Given the description of an element on the screen output the (x, y) to click on. 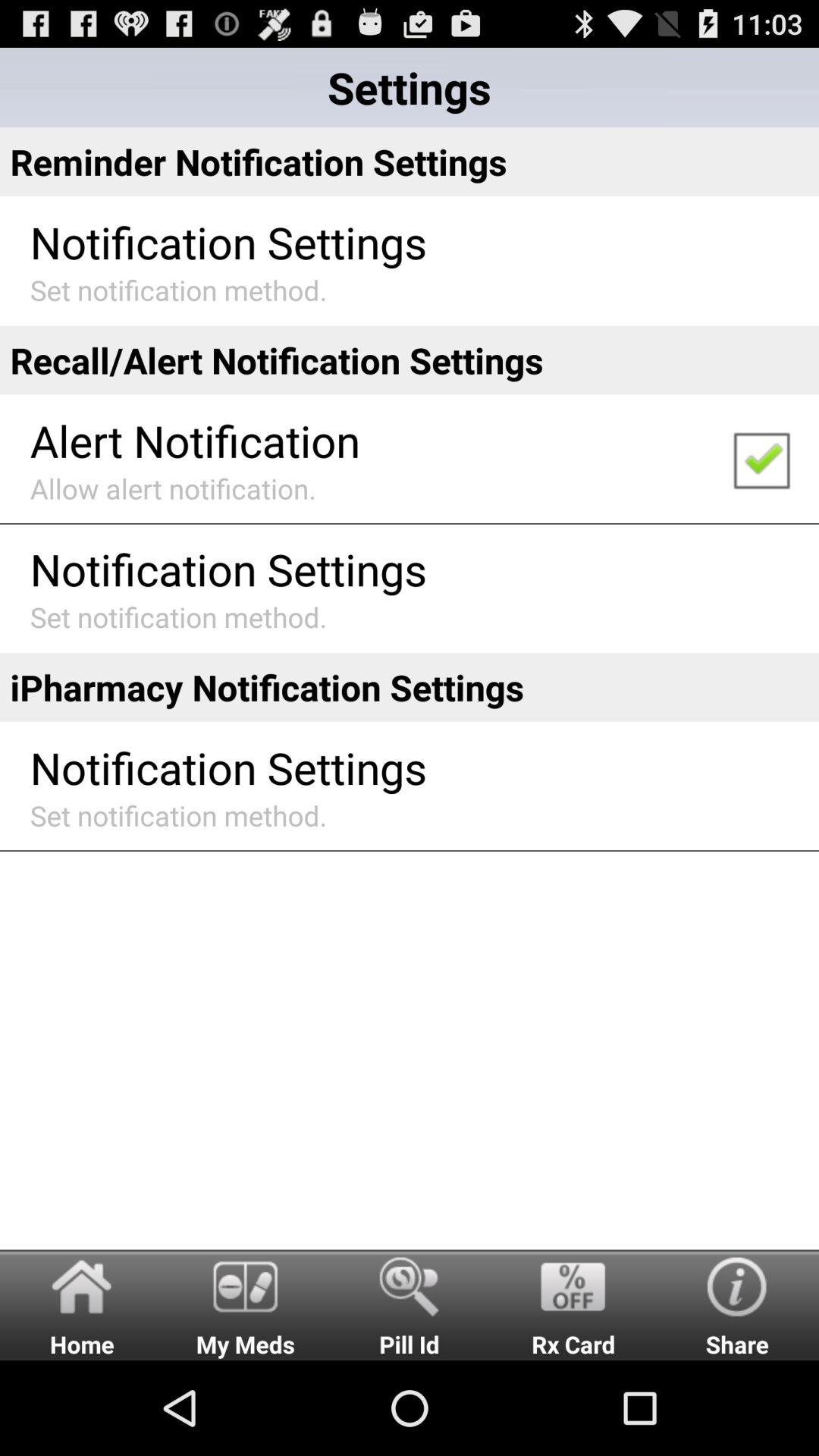
choose item to the right of the my meds (409, 1304)
